Given the description of an element on the screen output the (x, y) to click on. 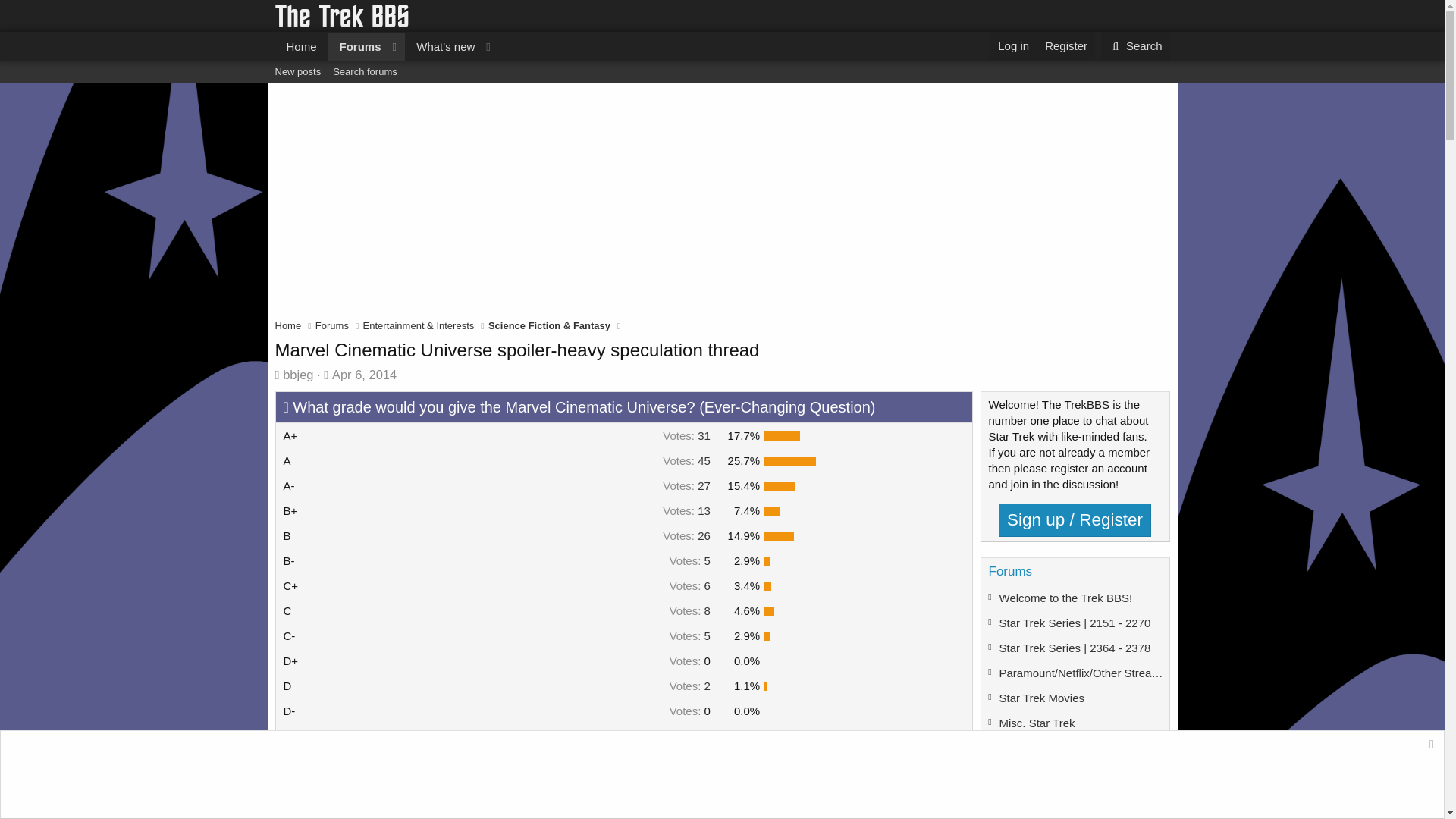
Votes: 13 (686, 510)
Register (1065, 45)
Apr 6, 2014 at 8:46 PM (363, 374)
Votes: 31 (686, 435)
Forums (356, 46)
Search forums (386, 46)
Search (364, 71)
Search (1135, 45)
Log in (1135, 45)
Votes: 26 (1013, 45)
Votes: 27 (686, 535)
Forums (686, 485)
Votes: 6 (332, 325)
New posts (689, 585)
